Given the description of an element on the screen output the (x, y) to click on. 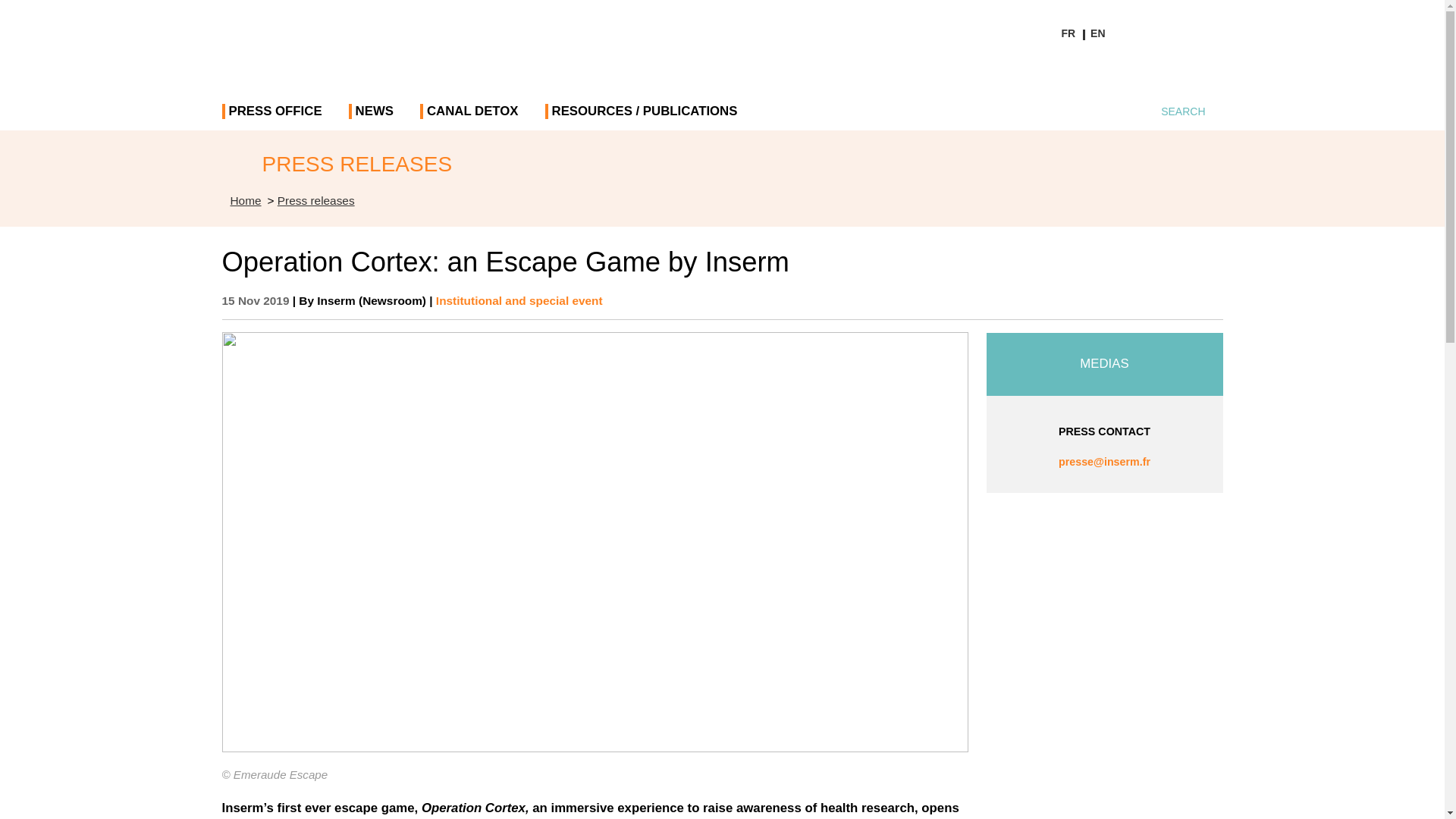
FR (1067, 33)
EN (1097, 33)
Youtube (1167, 71)
CANAL DETOX (472, 116)
Press releases (316, 200)
Accueil - inserm (246, 200)
NEWS (374, 116)
Institutional and special event (518, 300)
Facebook (1080, 71)
Instagram (1210, 71)
